Given the description of an element on the screen output the (x, y) to click on. 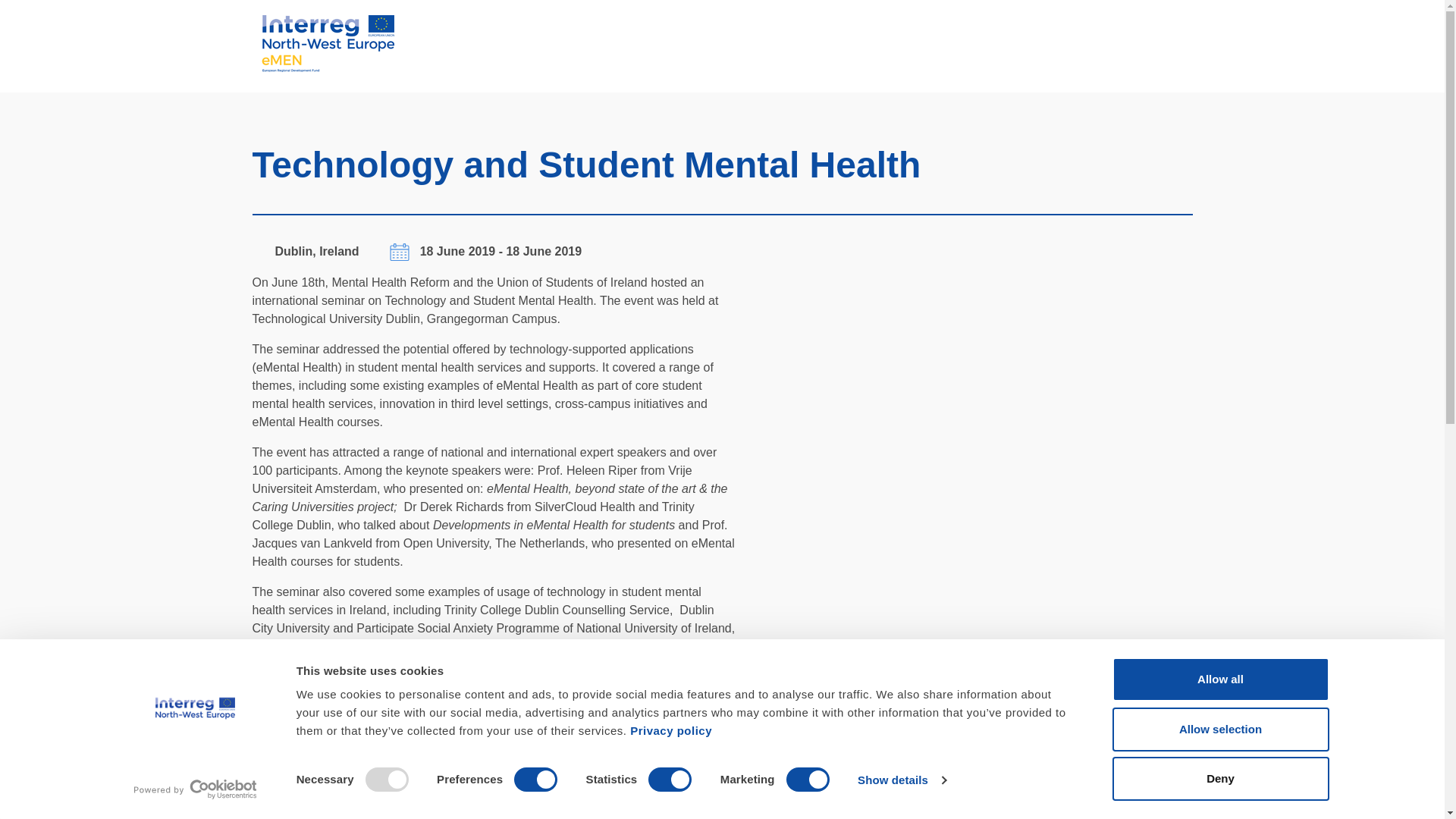
Privacy policy (670, 730)
Show details (900, 780)
